Given the description of an element on the screen output the (x, y) to click on. 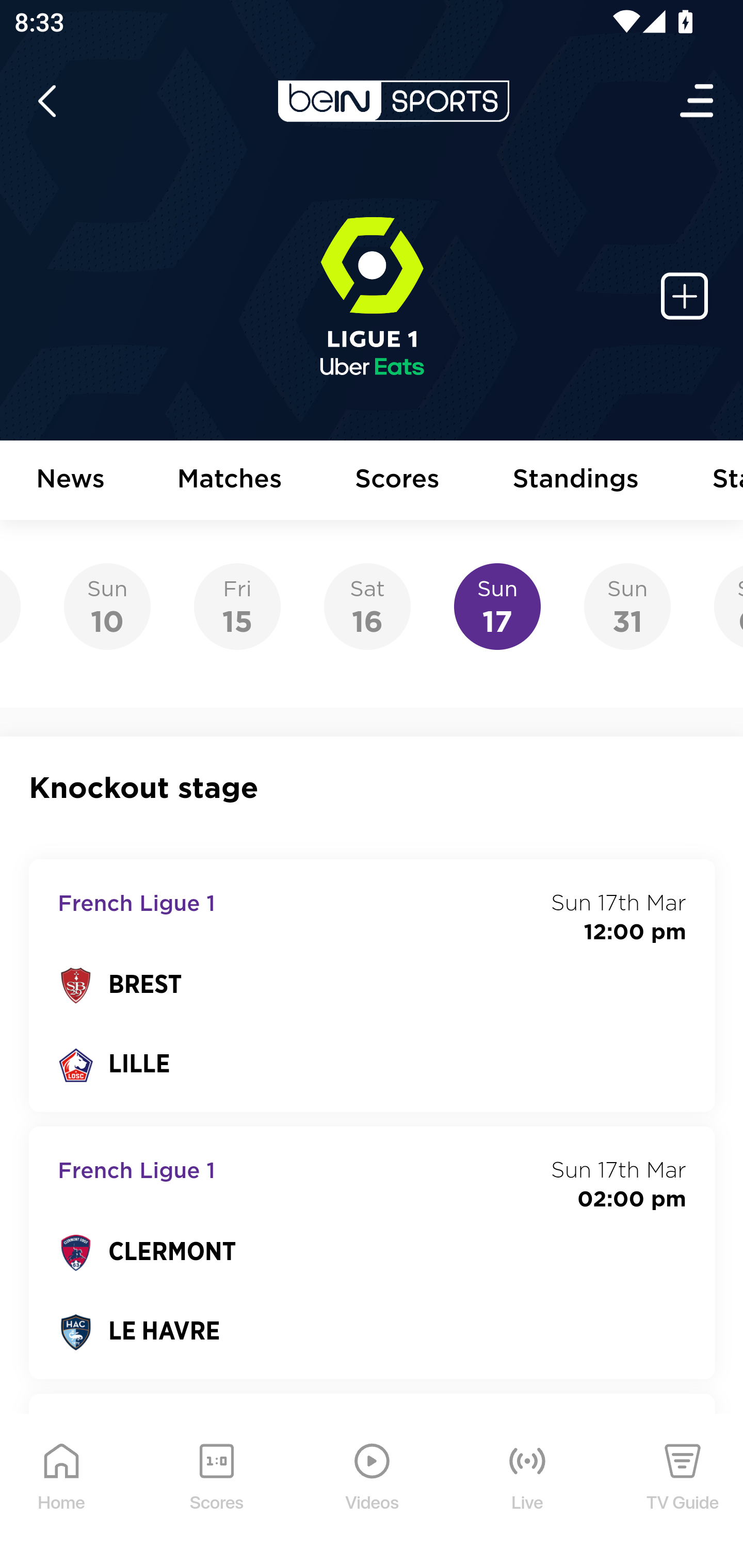
en-us?platform=mobile_android bein logo white (392, 101)
icon back (46, 101)
Open Menu Icon (697, 101)
News (70, 480)
Matches (229, 480)
Scores (397, 480)
Standings (575, 480)
Sun10 (107, 606)
Fri15 (237, 606)
Sat16 (367, 606)
Sun17 (497, 606)
Sun31 (627, 606)
Sun07 (728, 606)
Knockout stage (372, 787)
Home Home Icon Home (61, 1491)
Scores Scores Icon Scores (216, 1491)
Videos Videos Icon Videos (372, 1491)
TV Guide TV Guide Icon TV Guide (682, 1491)
